Given the description of an element on the screen output the (x, y) to click on. 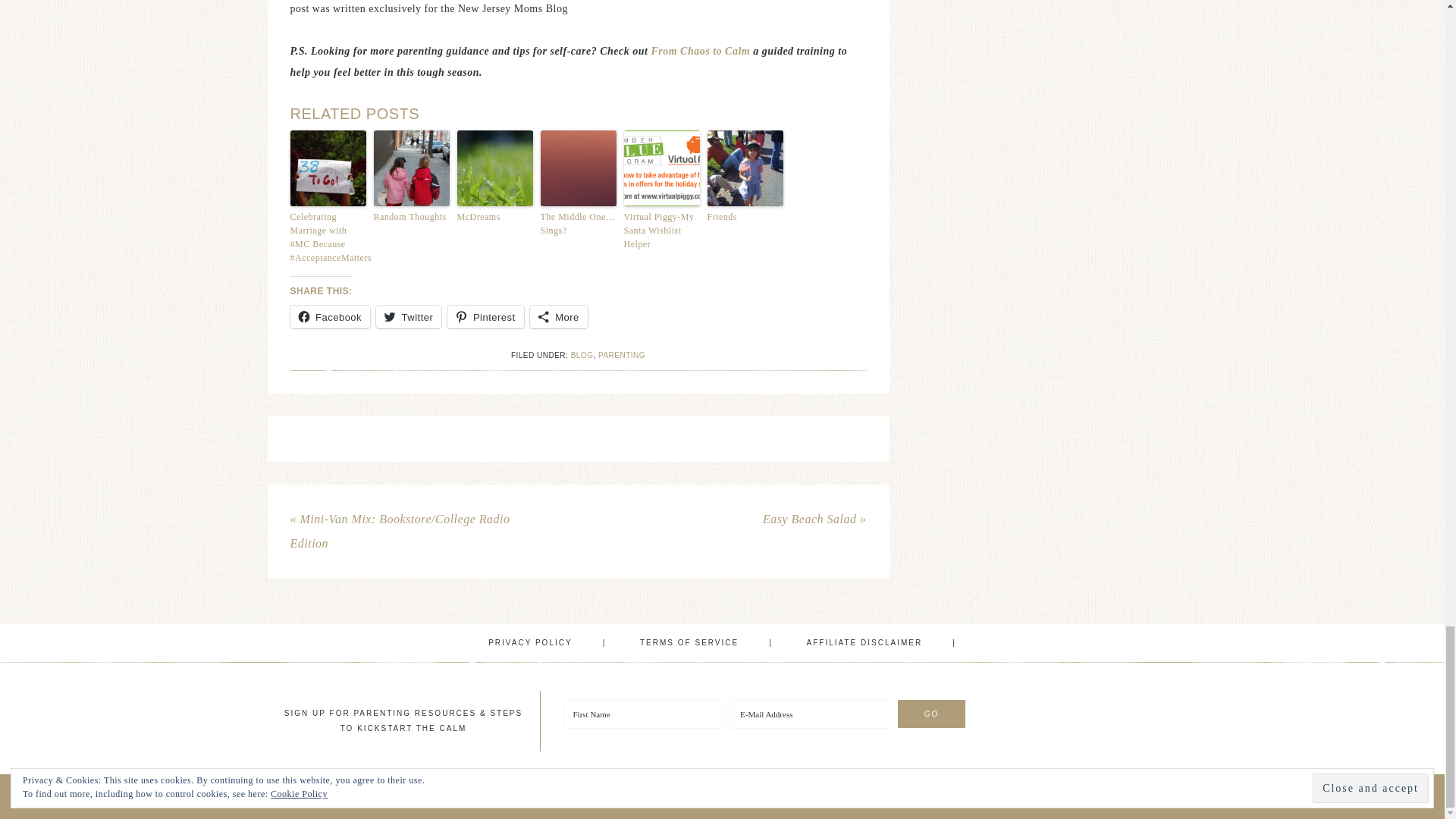
Click to share on Pinterest (484, 316)
Virtual Piggy-My Santa Wishlist Helper (660, 229)
Click to share on Facebook (329, 316)
Random Thoughts (410, 216)
From Chaos to Calm (701, 50)
Go (932, 714)
McDreams (494, 216)
Click to share on Twitter (408, 316)
